Given the description of an element on the screen output the (x, y) to click on. 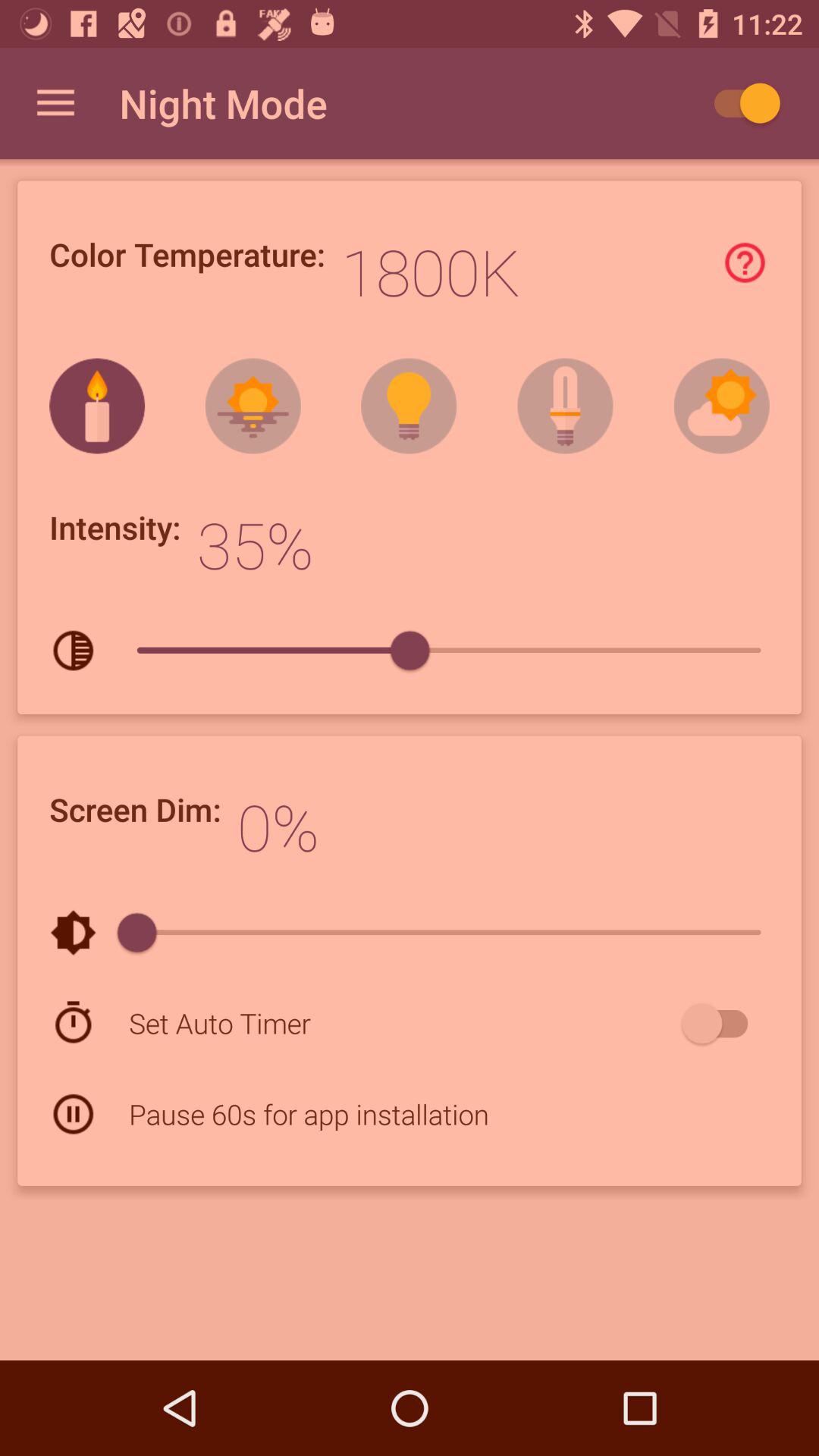
click on the second image from left side (565, 406)
click on the fifth button above the text intensity (721, 406)
select the icon which is left side of the set auto timer (73, 1022)
